Given the description of an element on the screen output the (x, y) to click on. 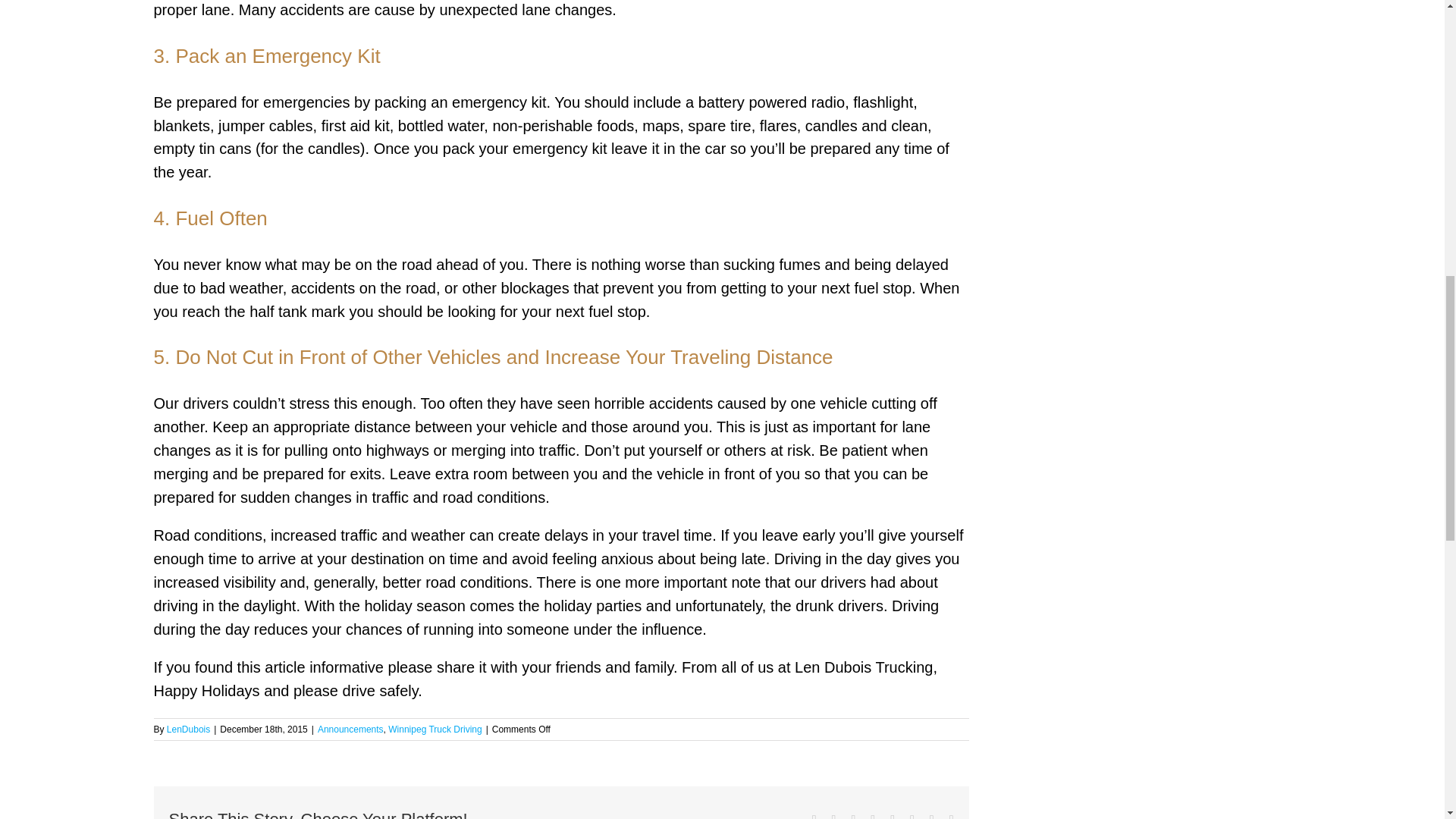
Posts by LenDubois (188, 728)
